Given the description of an element on the screen output the (x, y) to click on. 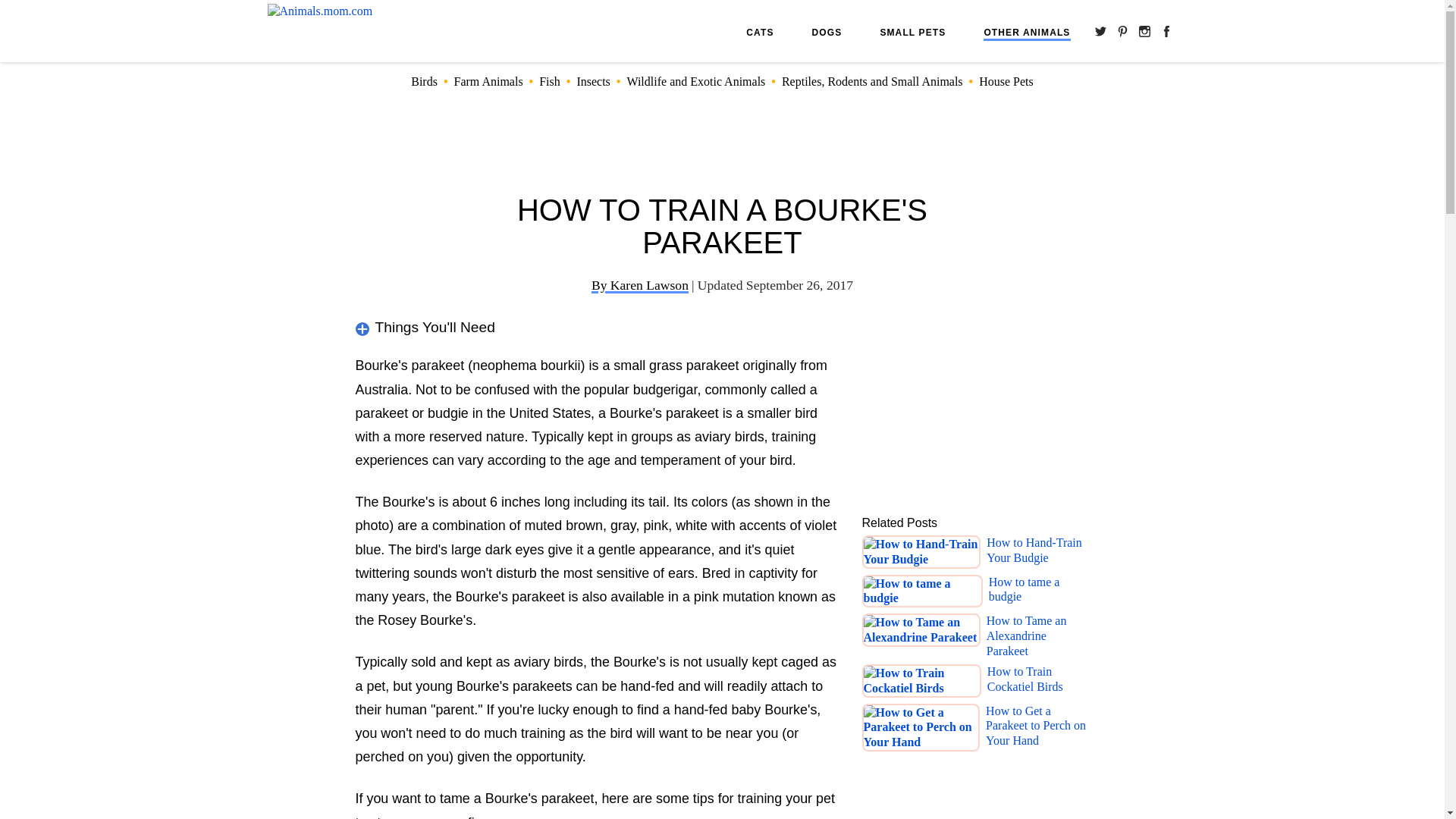
Insects (593, 81)
How to Hand-Train Your Budgie (1038, 551)
House Pets (1005, 81)
How to tame a budgie (1038, 590)
Reptiles, Rodents and Small Animals (871, 81)
SMALL PETS (911, 32)
Fish (549, 81)
DOGS (827, 32)
Wildlife and Exotic Animals (695, 81)
How to Tame an Alexandrine Parakeet (1038, 635)
